Given the description of an element on the screen output the (x, y) to click on. 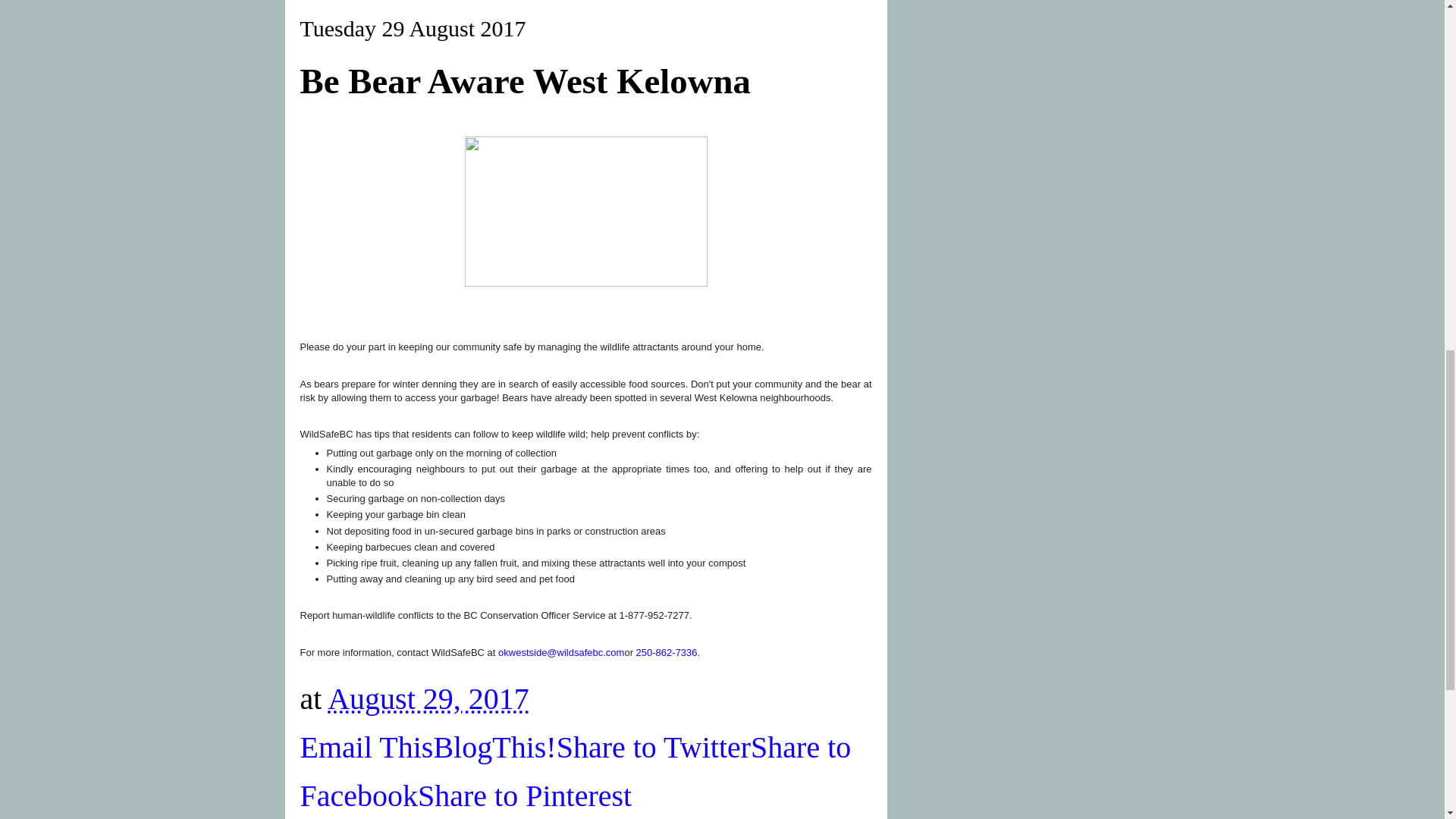
Share to Facebook (575, 771)
August 29, 2017 (428, 698)
Share to Twitter (653, 747)
permanent link (428, 698)
Share to Pinterest (524, 795)
BlogThis! (494, 747)
Email This (366, 747)
Email This (366, 747)
Share to Pinterest (524, 795)
BlogThis! (494, 747)
250-862-7336 (666, 652)
Share to Twitter (653, 747)
Share to Facebook (575, 771)
